Given the description of an element on the screen output the (x, y) to click on. 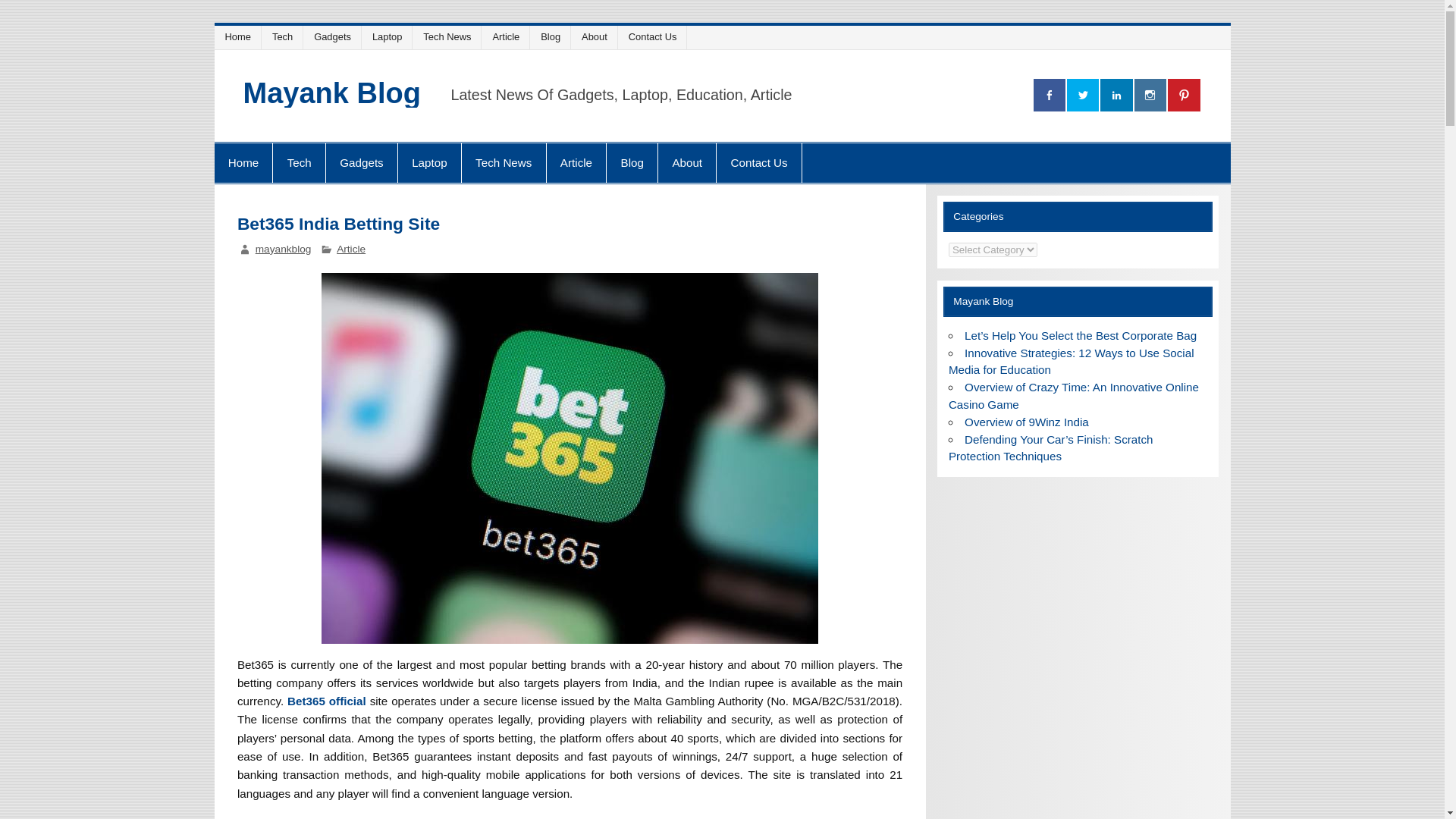
Article (577, 162)
Contact Us (759, 162)
Bet365 official (326, 700)
Gadgets (334, 37)
Tech News (503, 162)
Tech (298, 162)
Article (350, 248)
Laptop (429, 162)
View all posts by mayankblog (283, 248)
Gadgets (361, 162)
